Given the description of an element on the screen output the (x, y) to click on. 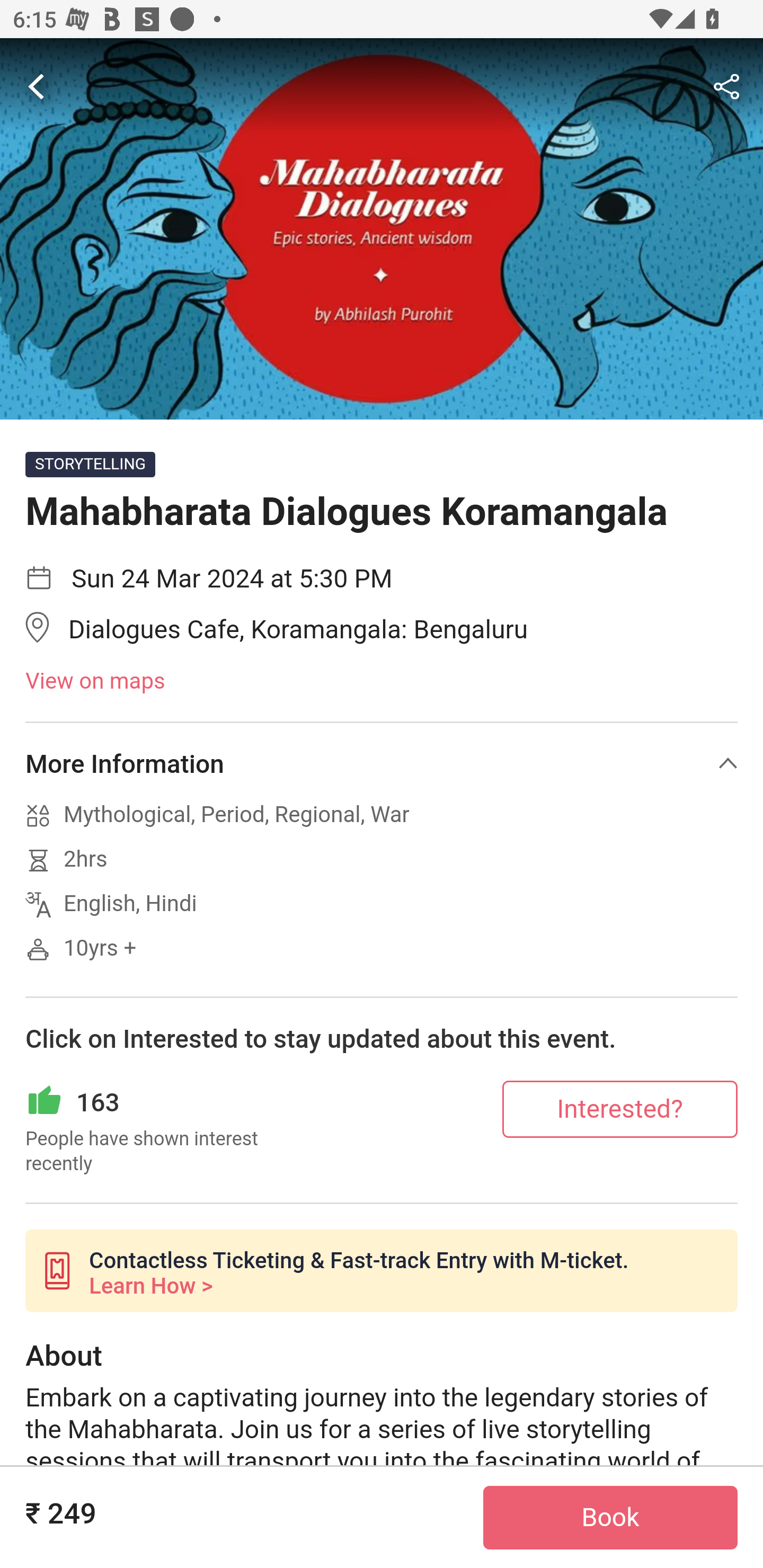
View on maps (381, 681)
More Information (381, 763)
Interested? (619, 1108)
Learn How > (150, 1286)
Book (609, 1517)
